Given the description of an element on the screen output the (x, y) to click on. 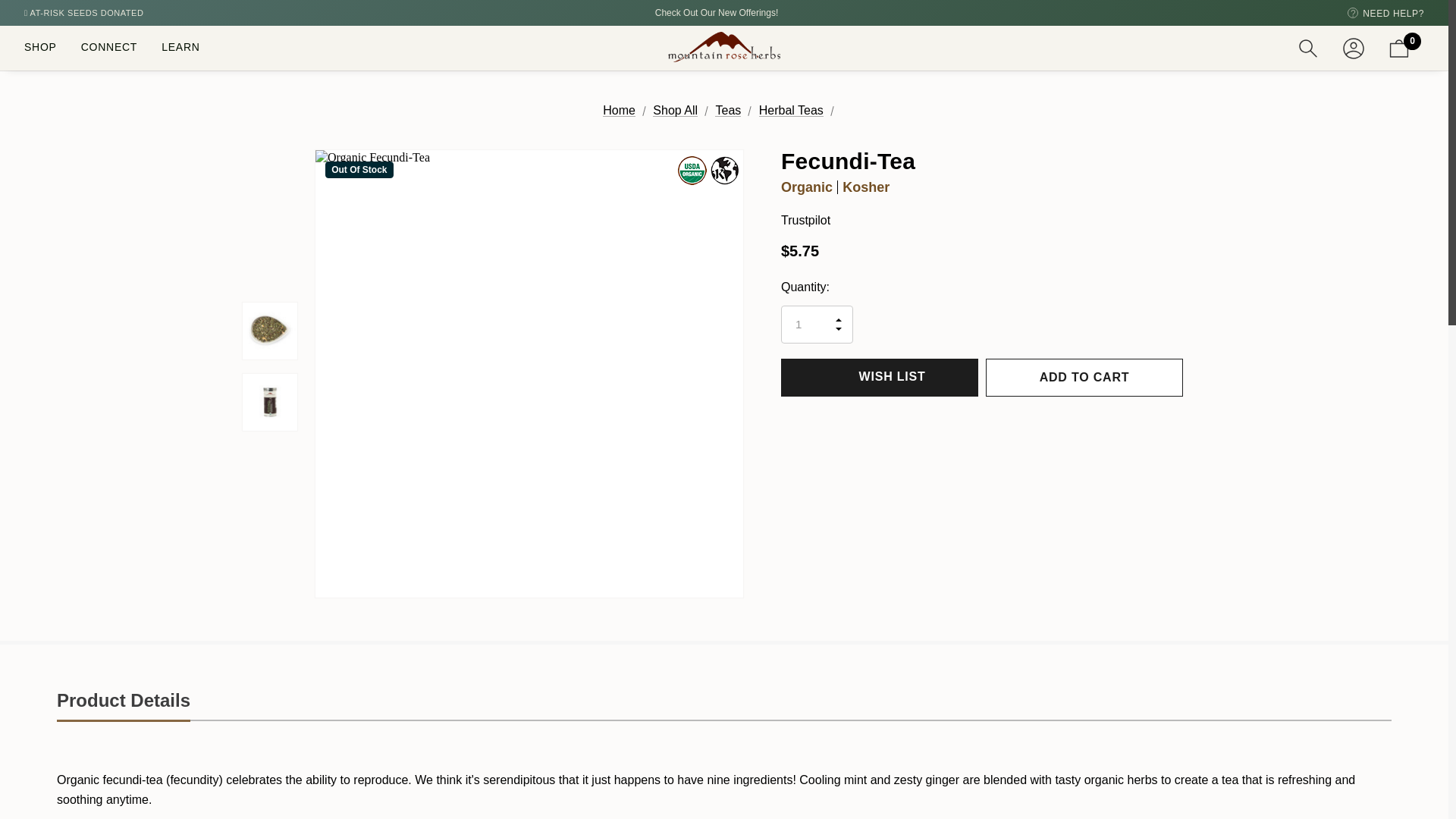
SHOP (39, 46)
Kosher (724, 169)
?NEED HELP? (1385, 12)
Organic Fecundi-Tea (270, 402)
Organic Fecundi-Tea (270, 331)
Check Out Our New Offerings! (716, 12)
1 (816, 324)
Organic (692, 169)
Add to Cart (1083, 377)
